Given the description of an element on the screen output the (x, y) to click on. 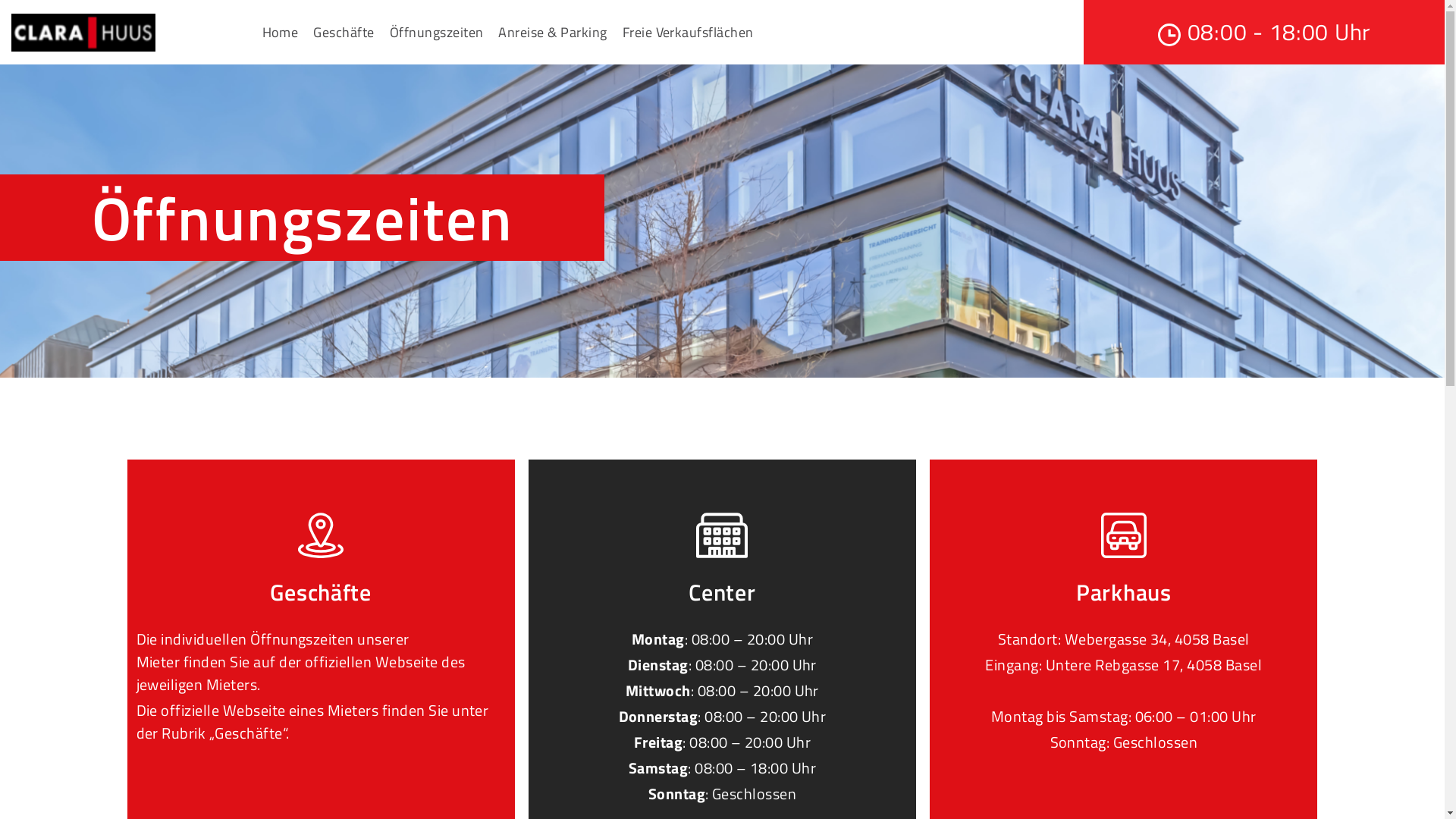
Home Element type: text (280, 32)
08:00 - 18:00 Uhr Element type: text (1263, 32)
Anreise & Parking Element type: text (552, 32)
